Given the description of an element on the screen output the (x, y) to click on. 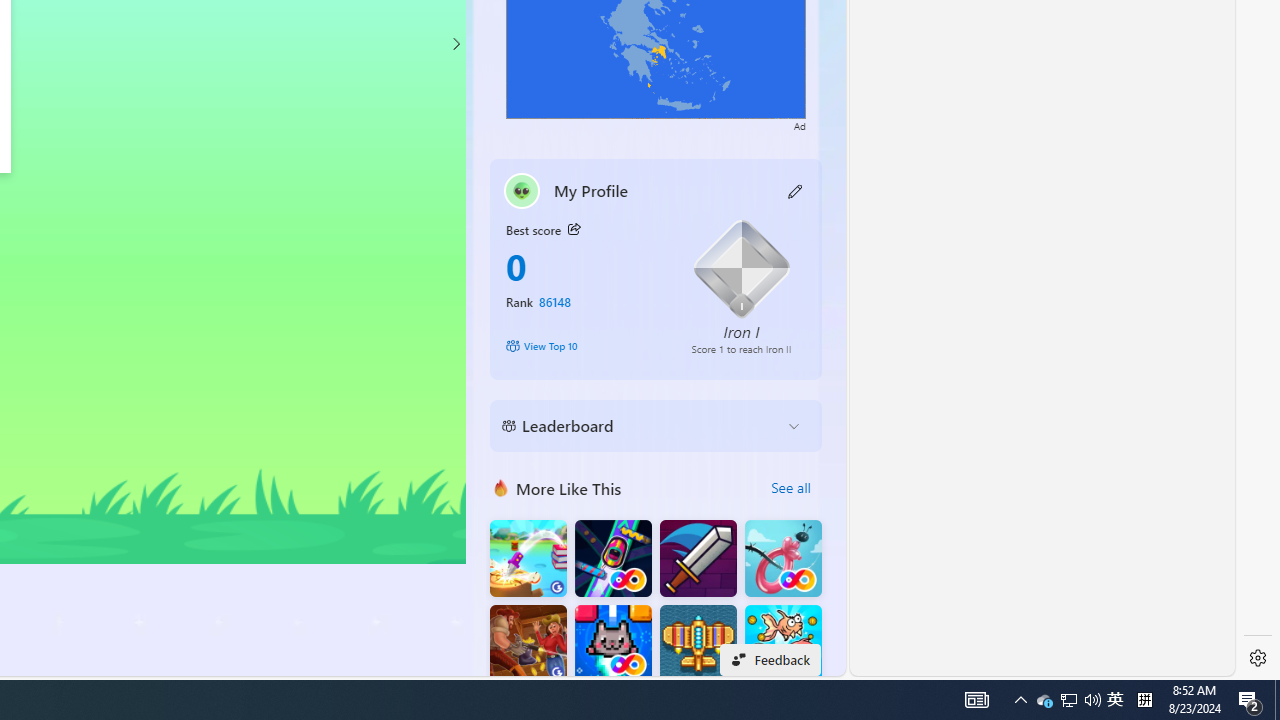
Leaderboard (639, 425)
Class: button edit-icon (795, 190)
Kitten Force FRVR (612, 643)
Class: button (574, 229)
